Given the description of an element on the screen output the (x, y) to click on. 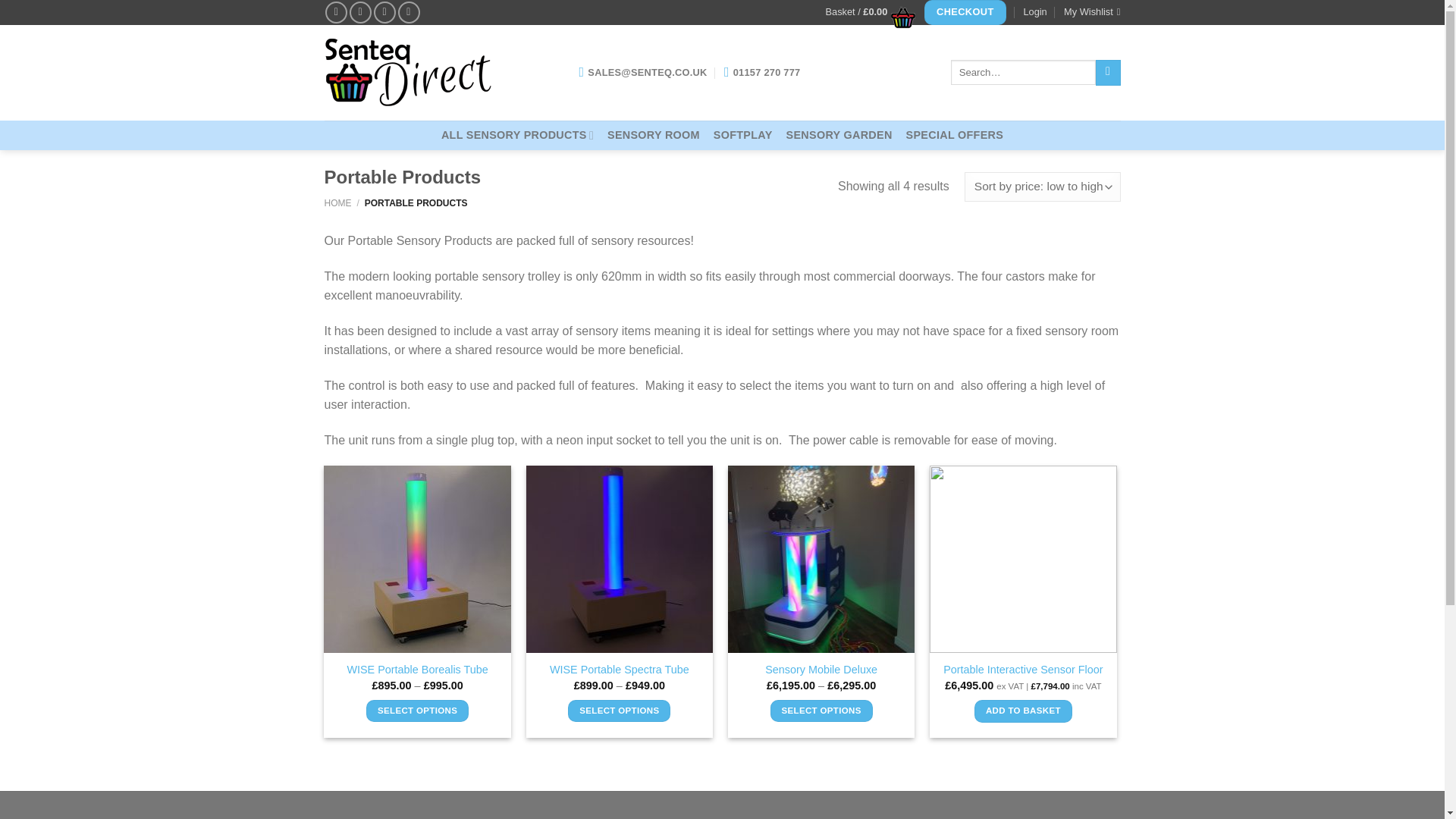
Softplay Equipment (743, 135)
Follow on Twitter (385, 12)
Search (1108, 72)
Follow on Facebook (335, 12)
ALL SENSORY PRODUCTS (517, 134)
Follow on Instagram (360, 12)
My Wishlist (1091, 12)
CHECKOUT (965, 12)
Basket (866, 12)
